Given the description of an element on the screen output the (x, y) to click on. 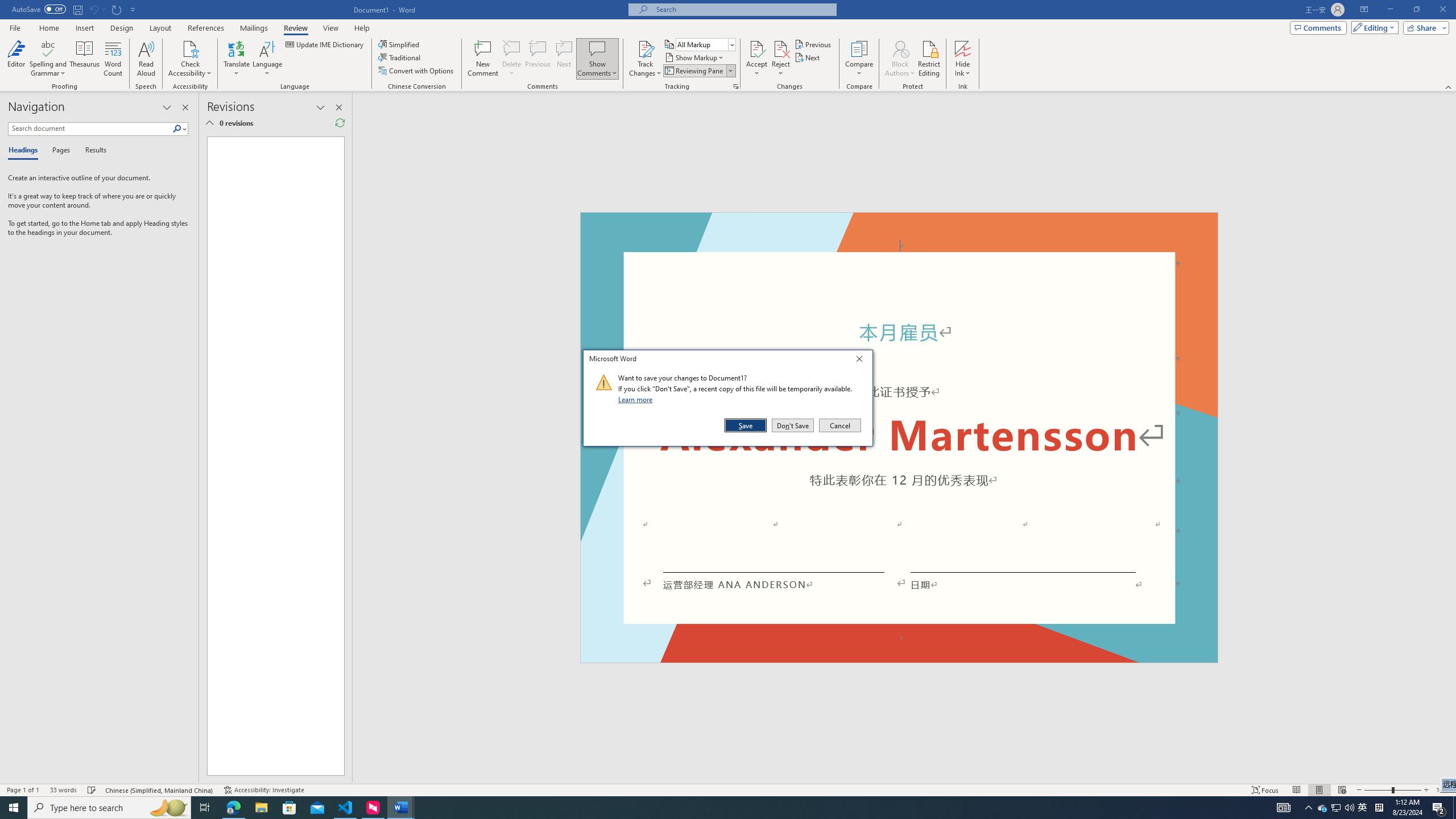
Visual Studio Code - 1 running window (345, 807)
Show Markup (695, 56)
Cancel (839, 425)
Task View (204, 807)
Show Comments (597, 48)
Reject (780, 58)
File Explorer (261, 807)
Block Authors (900, 48)
Search highlights icon opens search home window (167, 807)
Restrict Editing (929, 58)
Track Changes (644, 58)
Check Accessibility (189, 58)
